Given the description of an element on the screen output the (x, y) to click on. 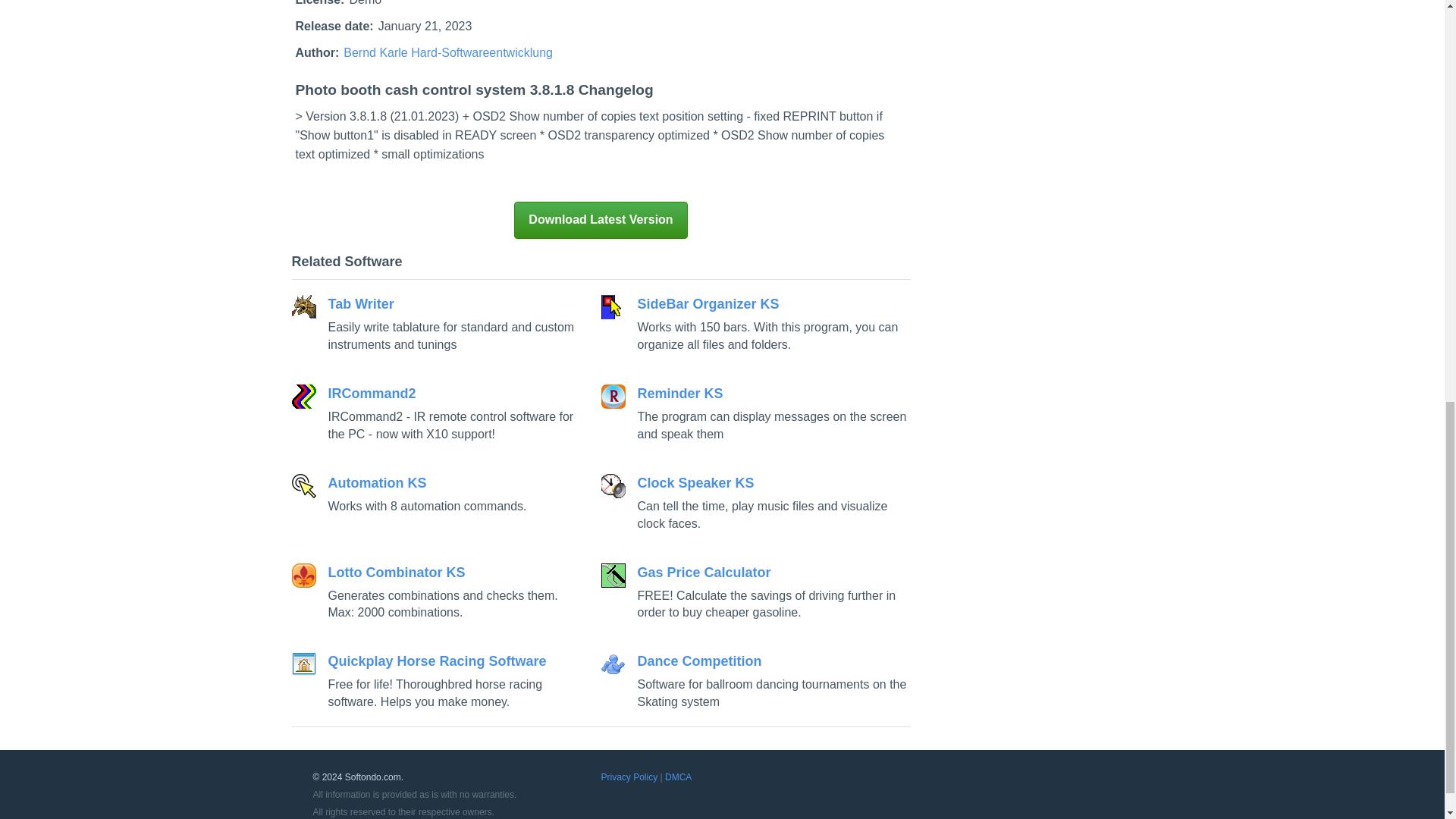
Lotto Combinator KS (438, 592)
Automation KS (438, 494)
Download Latest Version (600, 220)
Reminder KS (754, 413)
SideBar Organizer KS (754, 323)
Clock Speaker KS (754, 503)
